Given the description of an element on the screen output the (x, y) to click on. 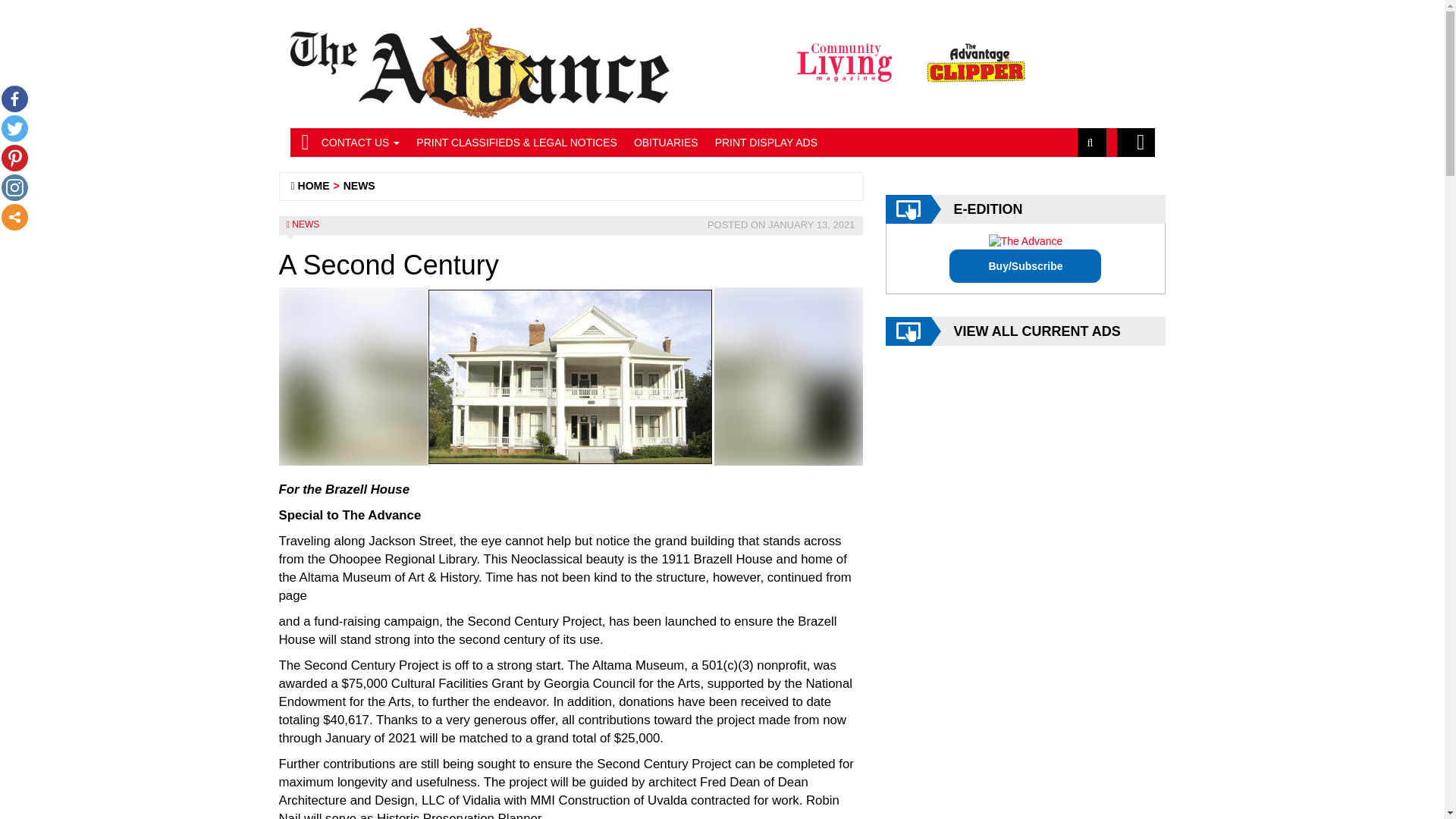
A Second Century (571, 376)
NEWS (305, 224)
OBITUARIES (666, 142)
A Second Century (571, 376)
Print Display Ads (765, 142)
The Advance News (314, 185)
CONTACT US (361, 142)
ALL SECTIONS (1135, 142)
OBITUARIES (666, 142)
Facebook (14, 98)
